Given the description of an element on the screen output the (x, y) to click on. 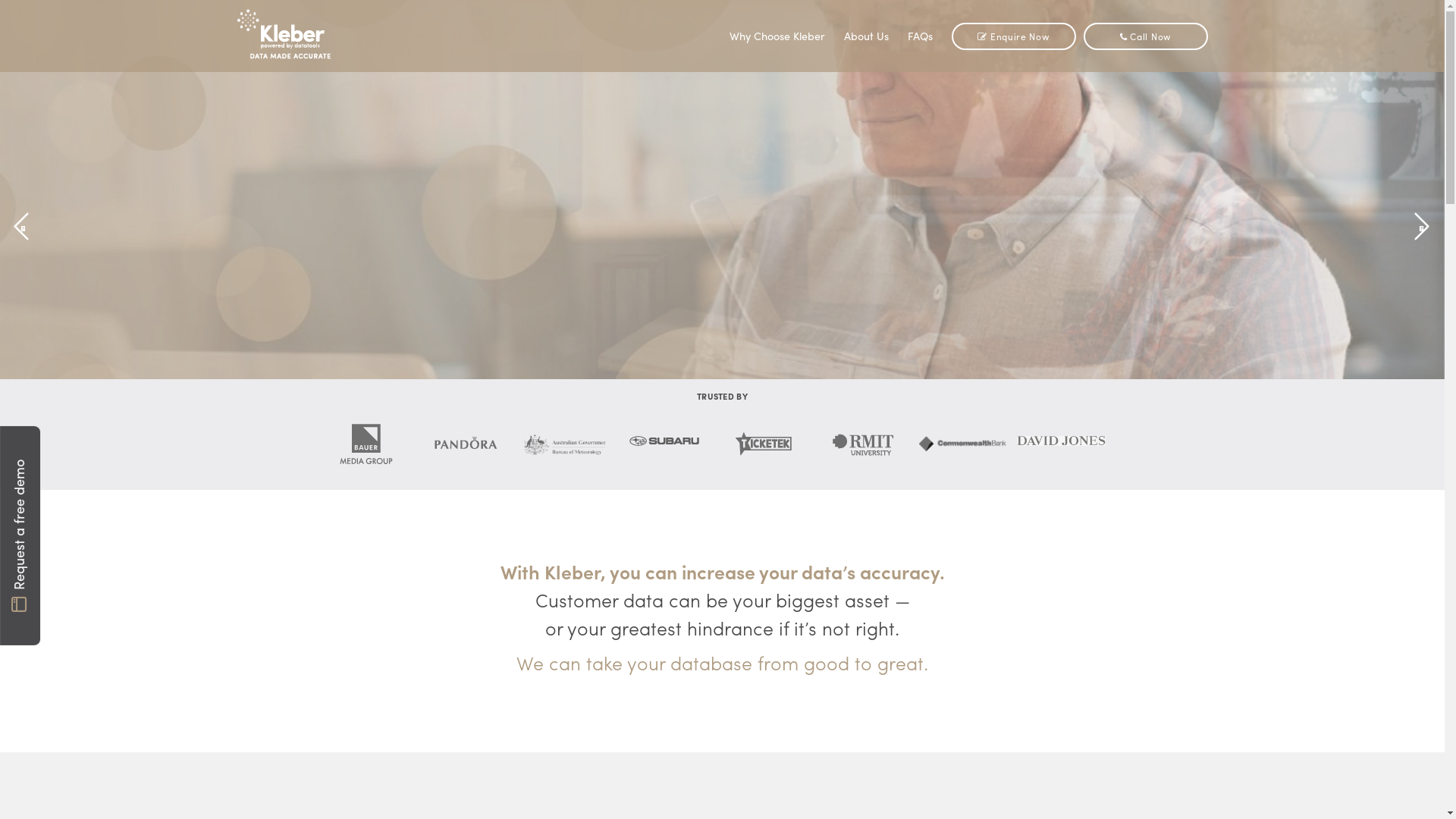
About Us Element type: text (865, 36)
Why Choose Kleber Element type: text (777, 36)
Call Now Element type: text (1144, 36)
DavidJonesL Element type: hover (1061, 440)
FAQs Element type: text (918, 36)
Enquire Now Element type: text (789, 231)
Request a free demo Element type: text (109, 446)
Call Now Element type: text (654, 231)
Enquire Now Element type: text (1012, 36)
